Given the description of an element on the screen output the (x, y) to click on. 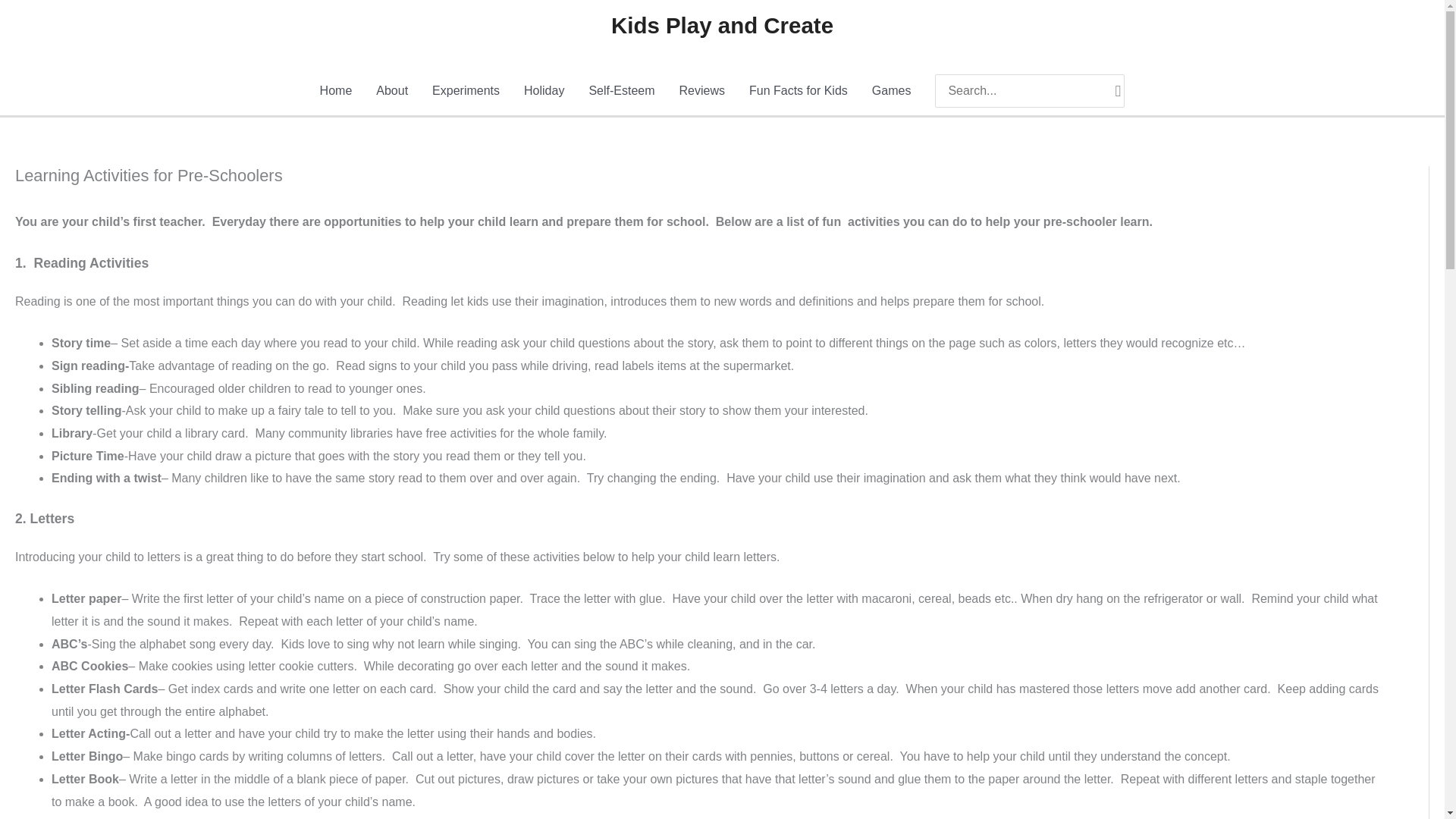
Fun Facts for Kids (798, 90)
Home (336, 90)
Kids Play and Create (721, 25)
About (392, 90)
Reviews (701, 90)
Games (891, 90)
Holiday (544, 90)
Self-Esteem (621, 90)
Experiments (466, 90)
